Given the description of an element on the screen output the (x, y) to click on. 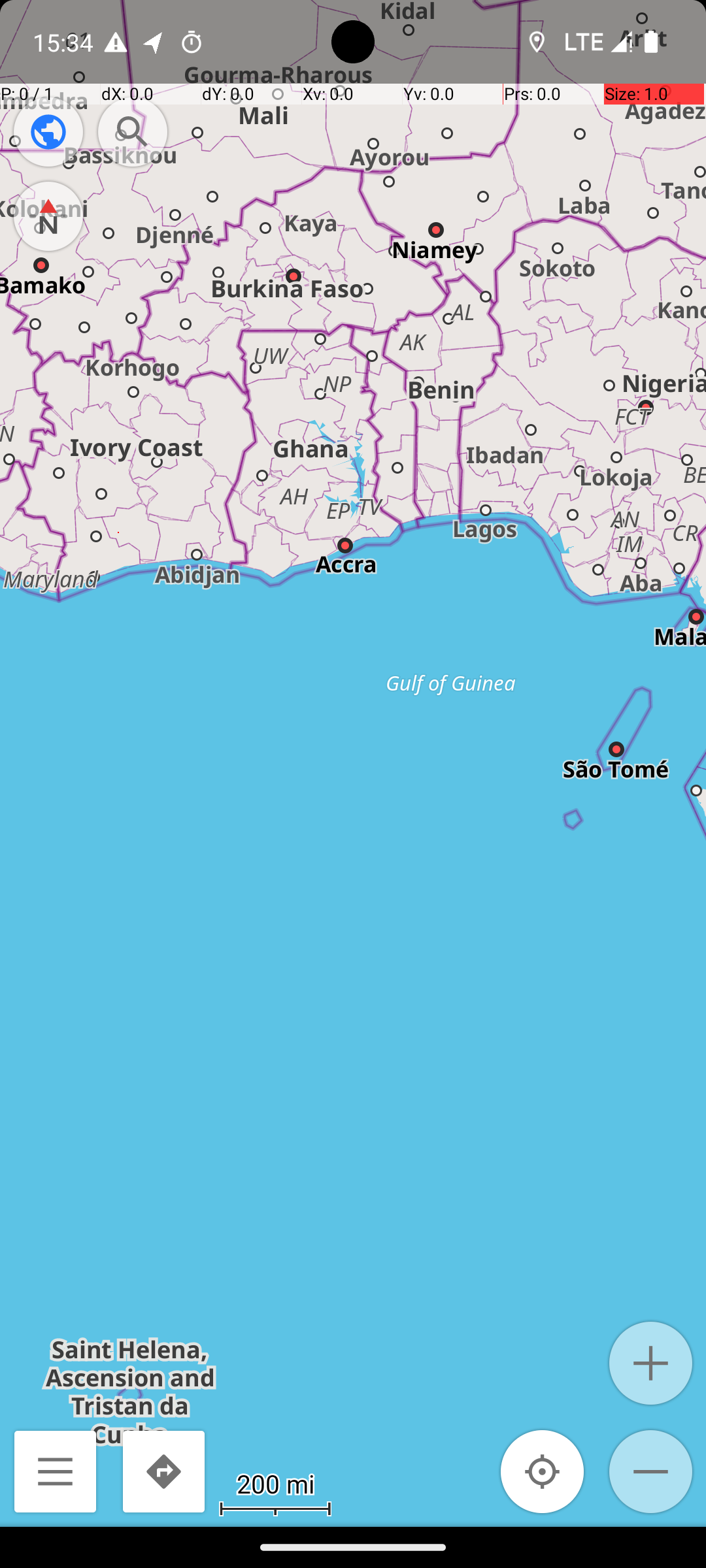
North is up Element type: android.widget.ImageButton (48, 216)
200 mi Element type: android.widget.TextView (274, 1483)
Position not yet known. Element type: android.widget.ImageButton (542, 1471)
OpenTracks notification: Distance: 8.20 mi Element type: android.widget.ImageView (153, 41)
